Given the description of an element on the screen output the (x, y) to click on. 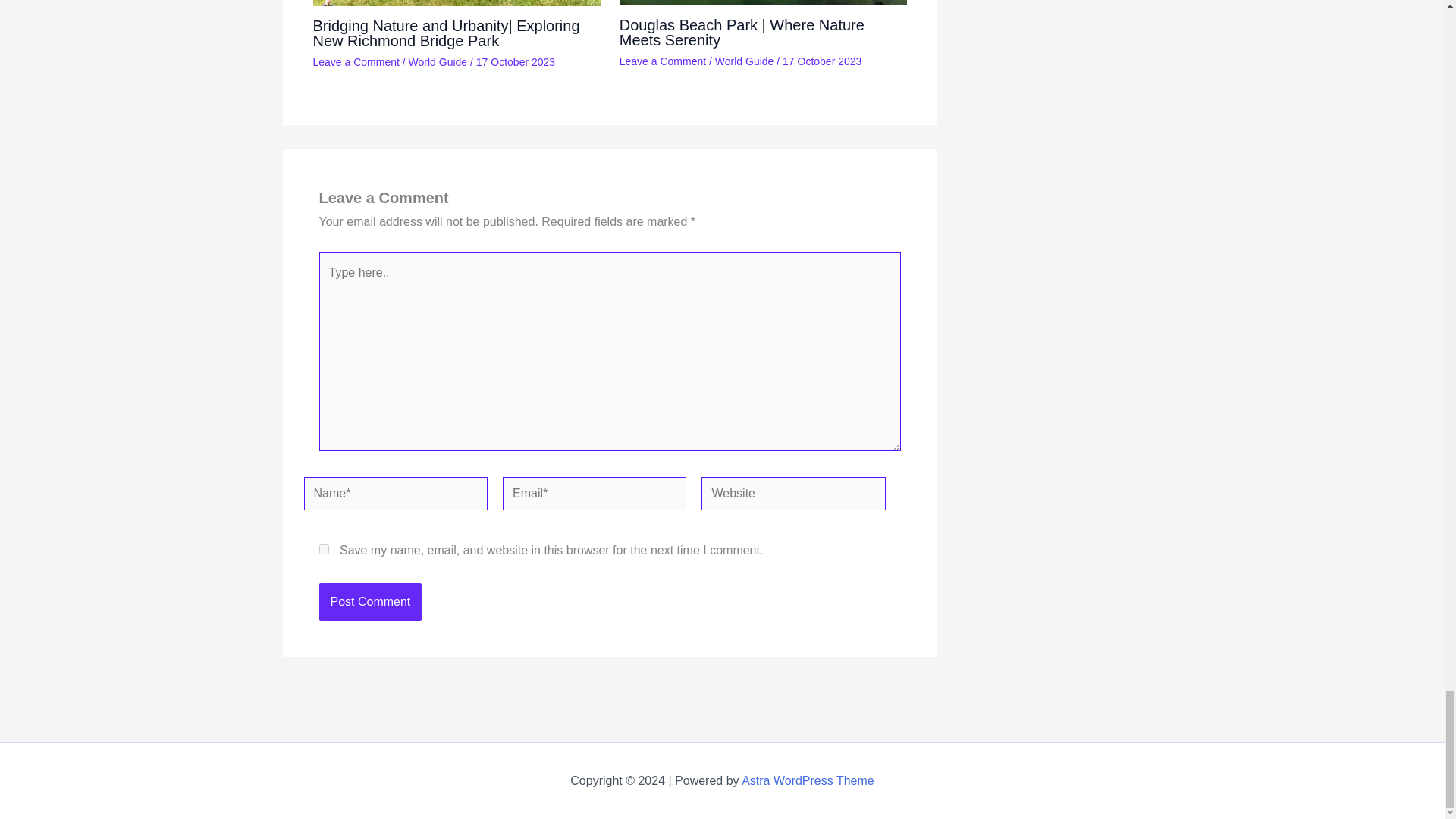
World Guide (438, 61)
Leave a Comment (663, 61)
Post Comment (370, 601)
yes (323, 549)
World Guide (744, 61)
Leave a Comment (355, 61)
Post Comment (370, 601)
